Given the description of an element on the screen output the (x, y) to click on. 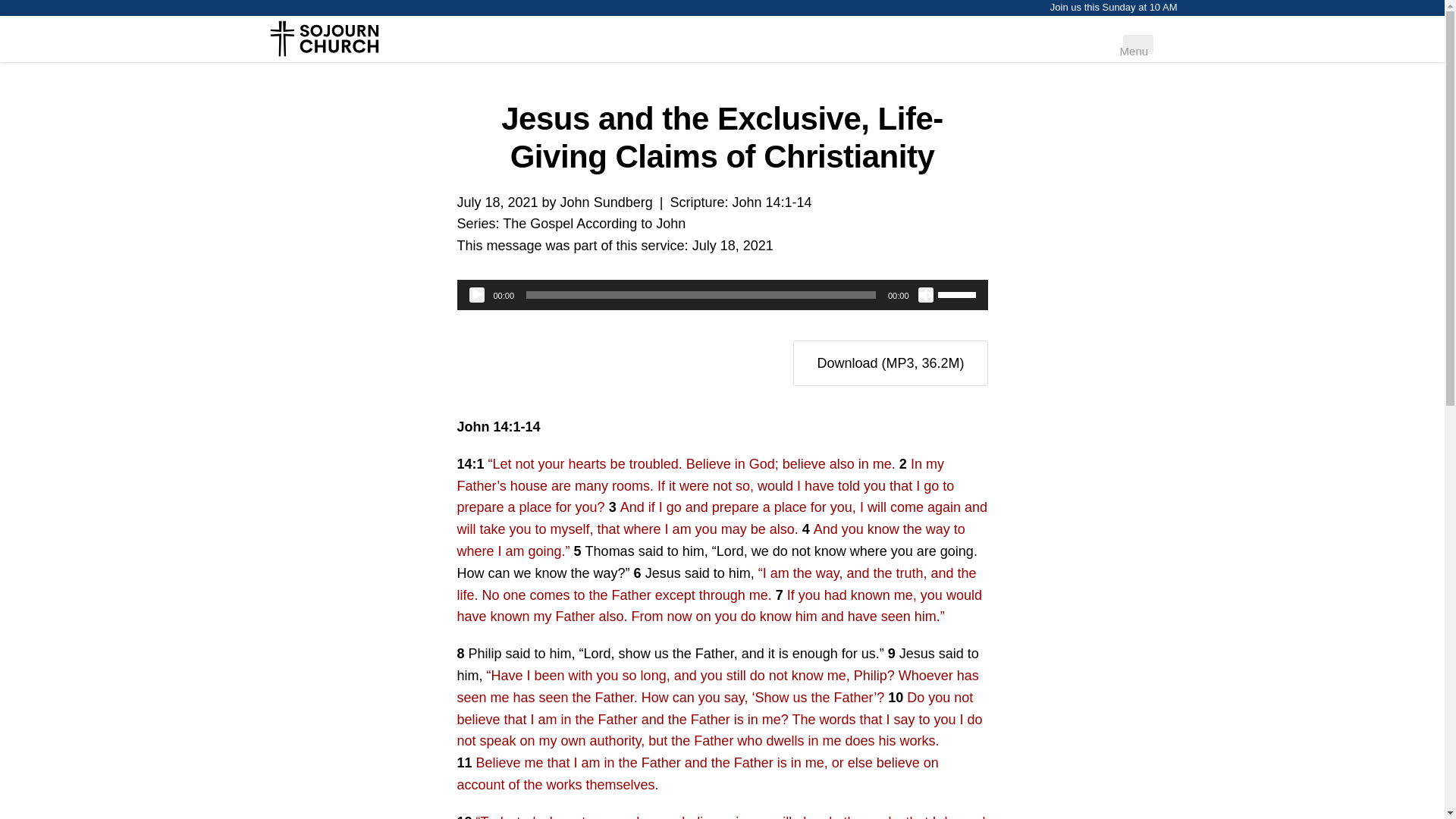
July 18, 2021 (733, 245)
John Sundberg (1137, 44)
Play (606, 201)
Show Search (475, 294)
Click to see the Order of Worship for this service (1105, 37)
Mute (733, 245)
The Gospel According to John (925, 294)
John (593, 223)
